Given the description of an element on the screen output the (x, y) to click on. 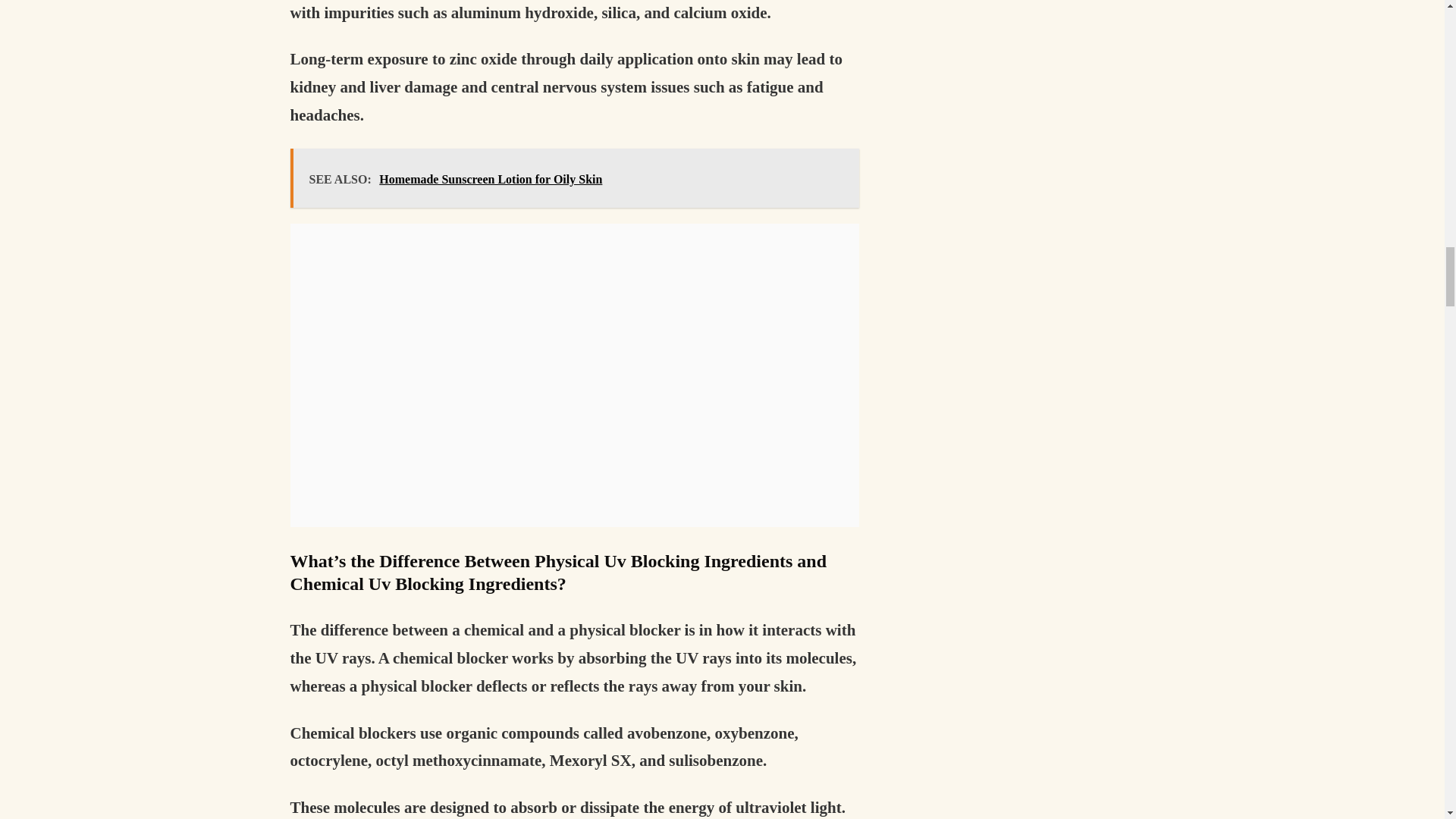
SEE ALSO:  Homemade Sunscreen Lotion for Oily Skin (574, 178)
